Given the description of an element on the screen output the (x, y) to click on. 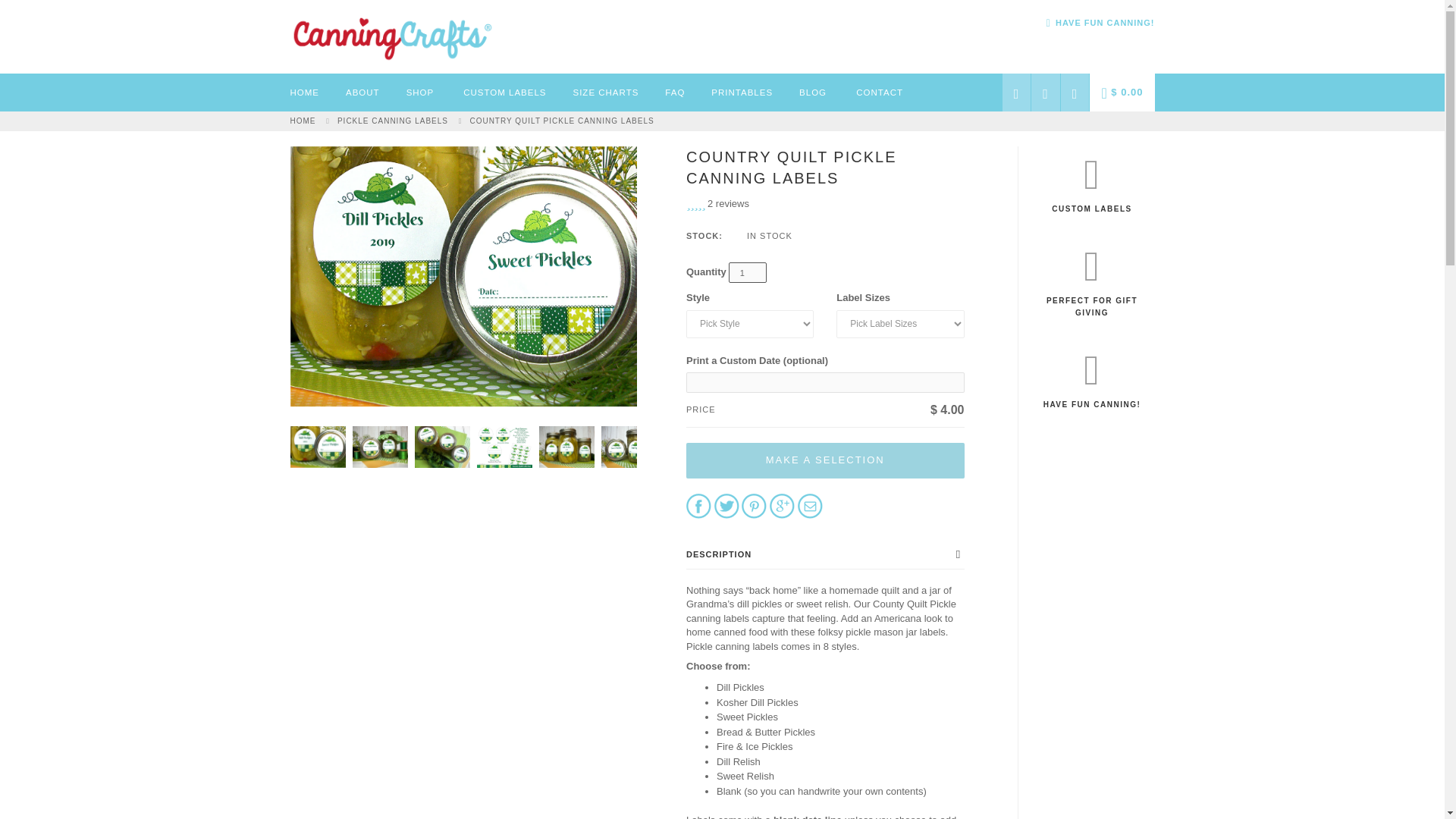
Make a selection (824, 460)
1 (748, 272)
ABOUT (363, 92)
